Given the description of an element on the screen output the (x, y) to click on. 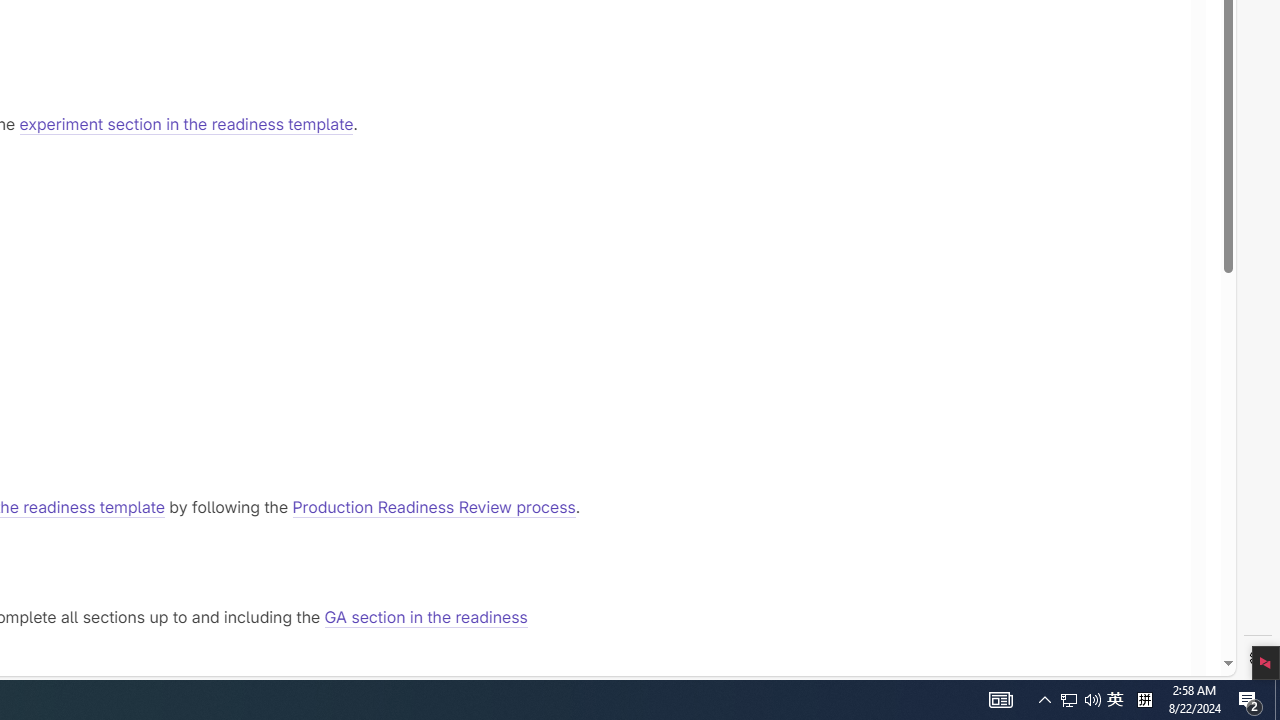
experiment section in the readiness template (186, 124)
Production Readiness Review process (433, 506)
